Given the description of an element on the screen output the (x, y) to click on. 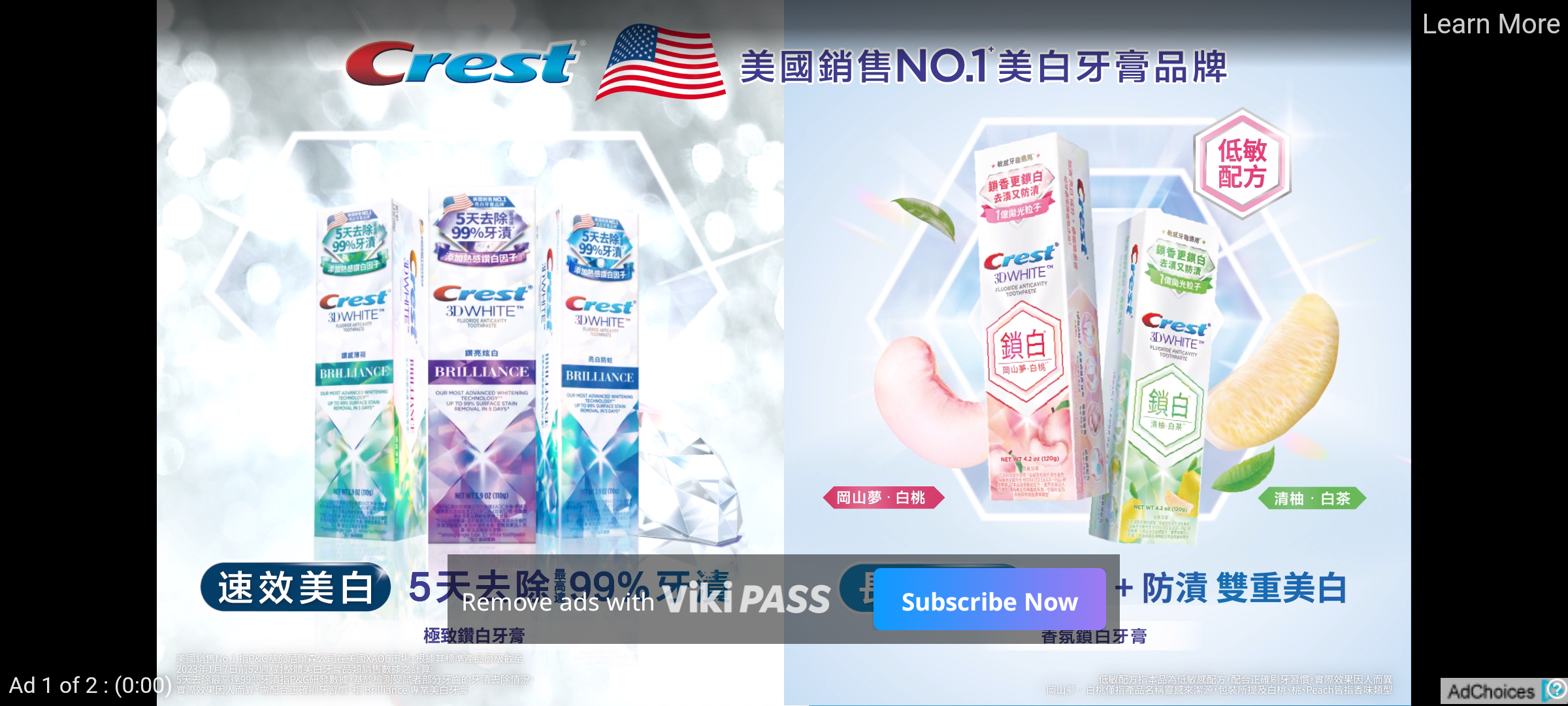
Learn More (1490, 24)
Subscribe Now (989, 599)
Ad 1 of 2 : (0:01) (90, 684)
help_outline_white_24dp_with_3px_trbl_padding (1553, 688)
get?name=admarker-full-tl (1504, 690)
